Given the description of an element on the screen output the (x, y) to click on. 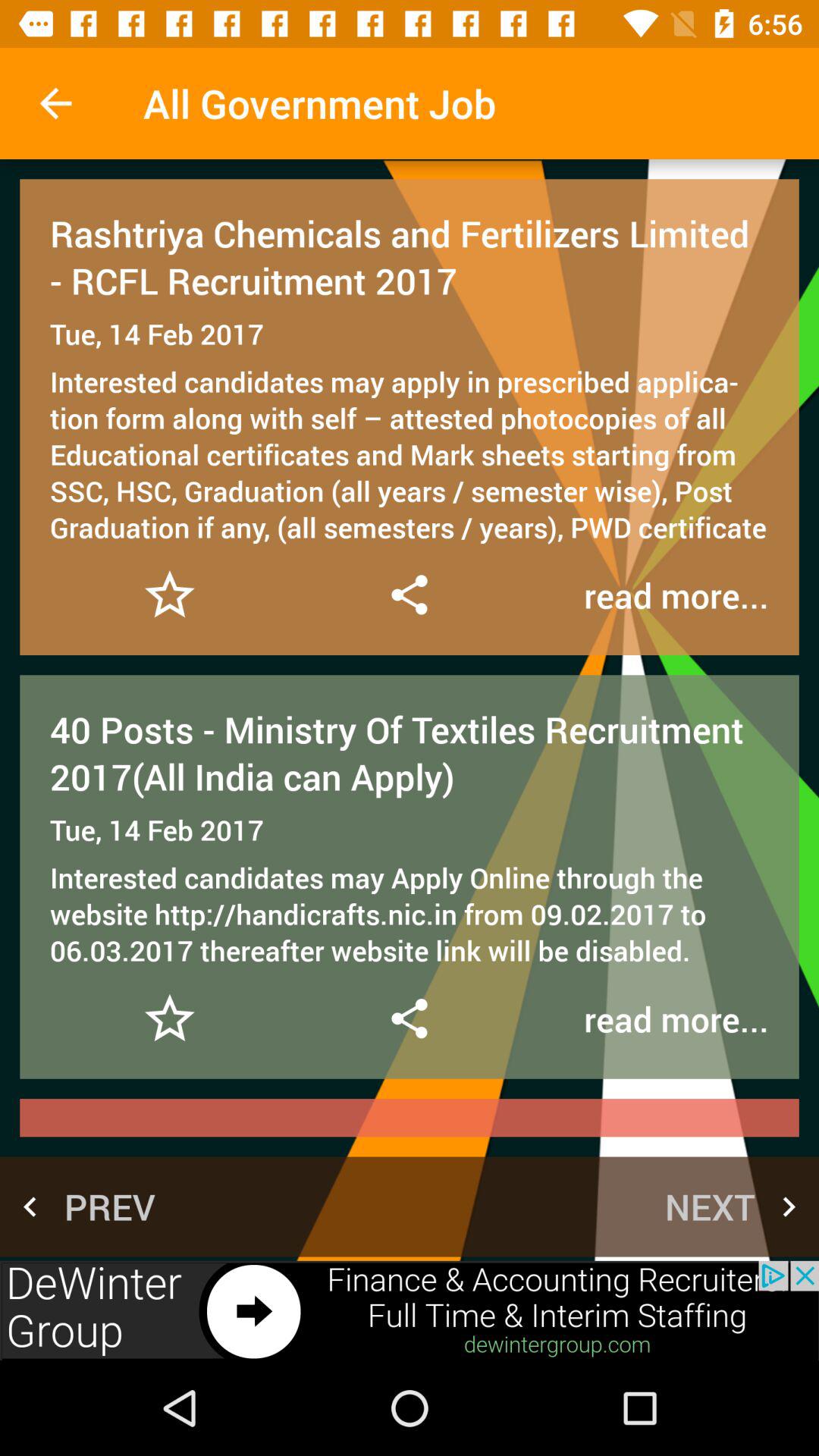
go to share (408, 1018)
